Given the description of an element on the screen output the (x, y) to click on. 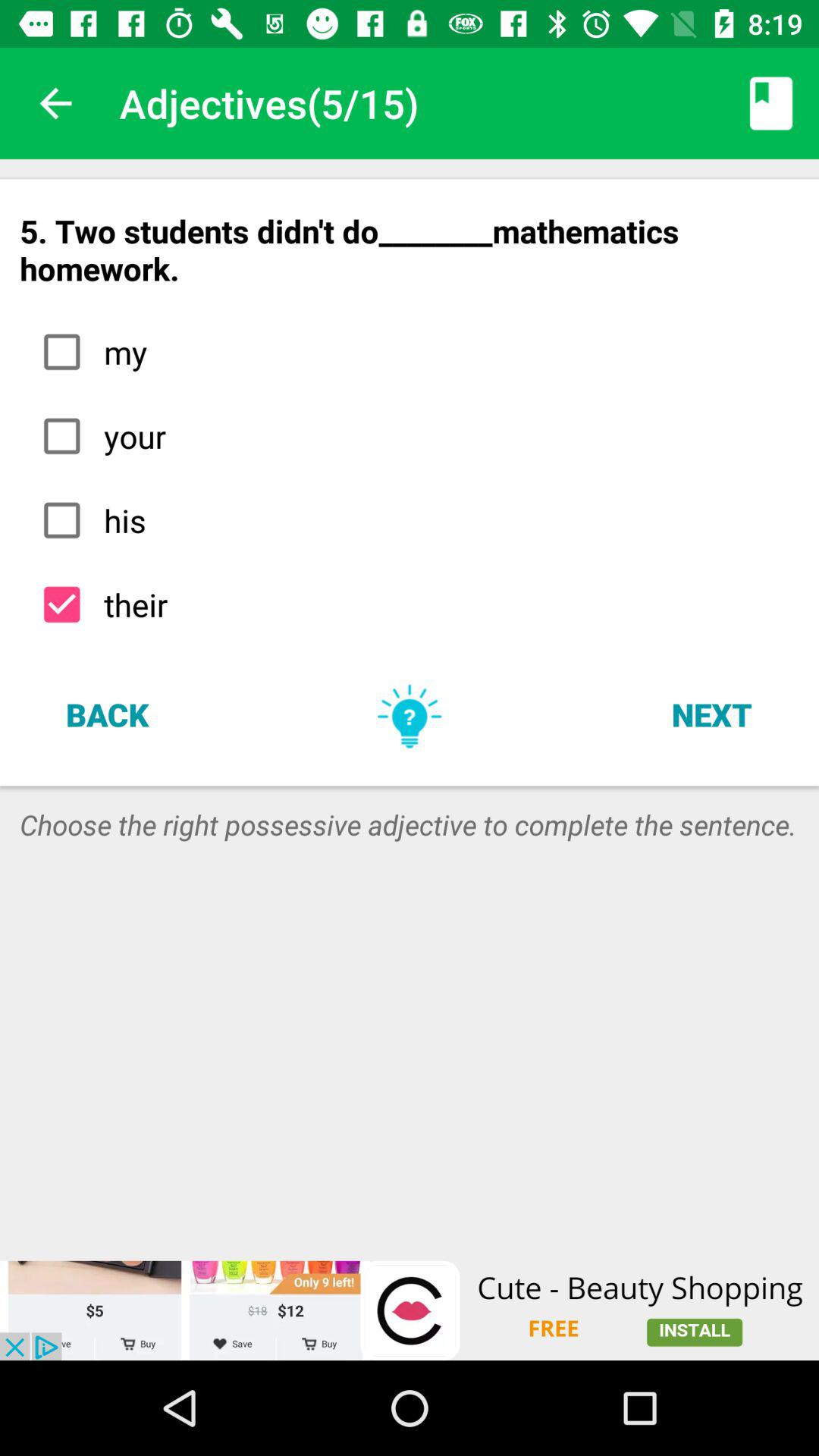
click on back button (106, 713)
select the second check box (62, 435)
select the text which is right of the light icon (711, 713)
select the first check box in the list of options (62, 352)
